Given the description of an element on the screen output the (x, y) to click on. 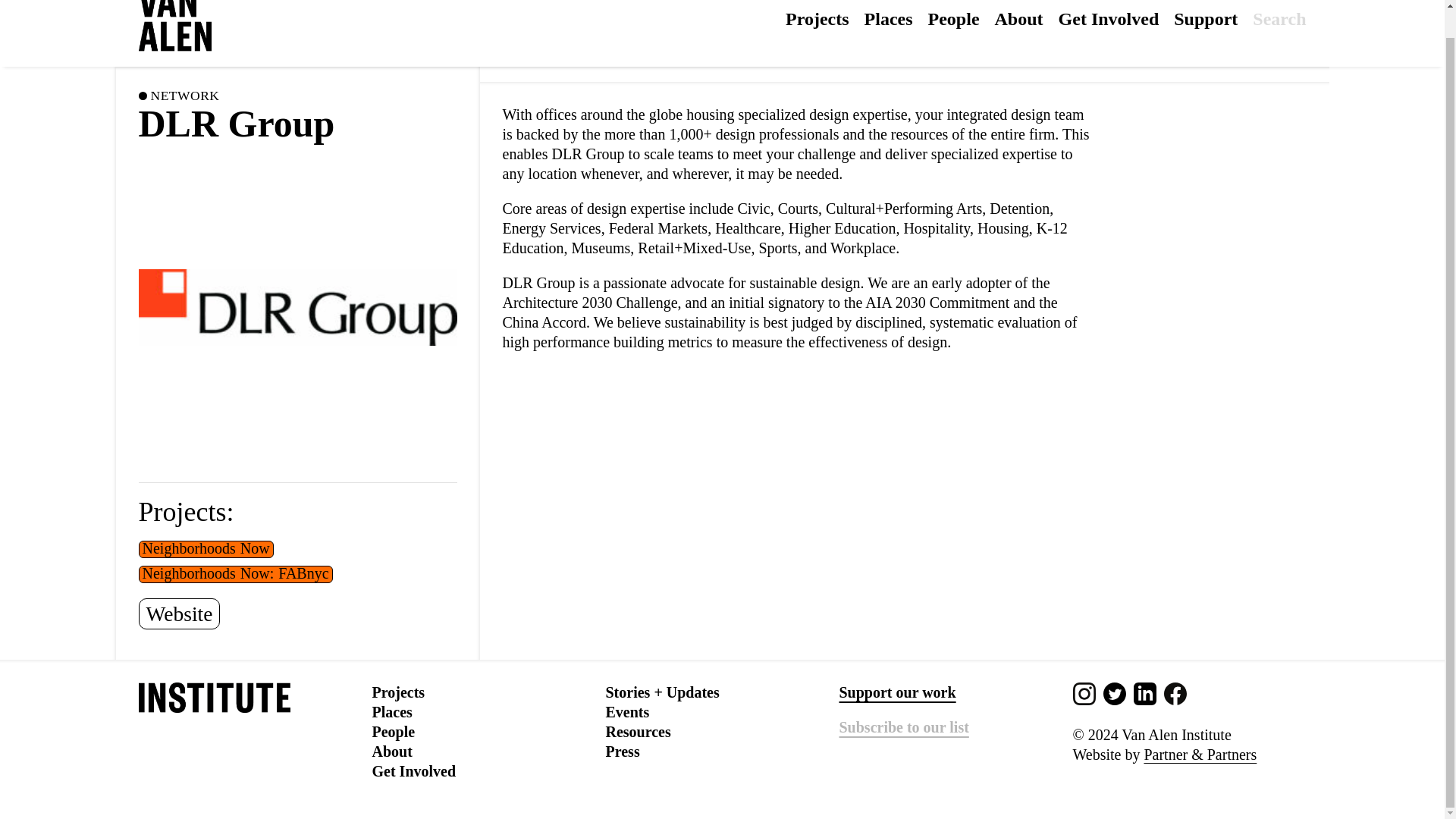
People (953, 18)
Places (391, 711)
NETWORK (184, 96)
Neighborhoods Now (205, 548)
Website (178, 613)
Search (1279, 25)
Places (888, 18)
Support our work (896, 692)
Get Involved (413, 770)
About (391, 751)
Support (1205, 18)
About (1018, 18)
Press (622, 751)
Get Involved (1108, 18)
People (392, 731)
